Given the description of an element on the screen output the (x, y) to click on. 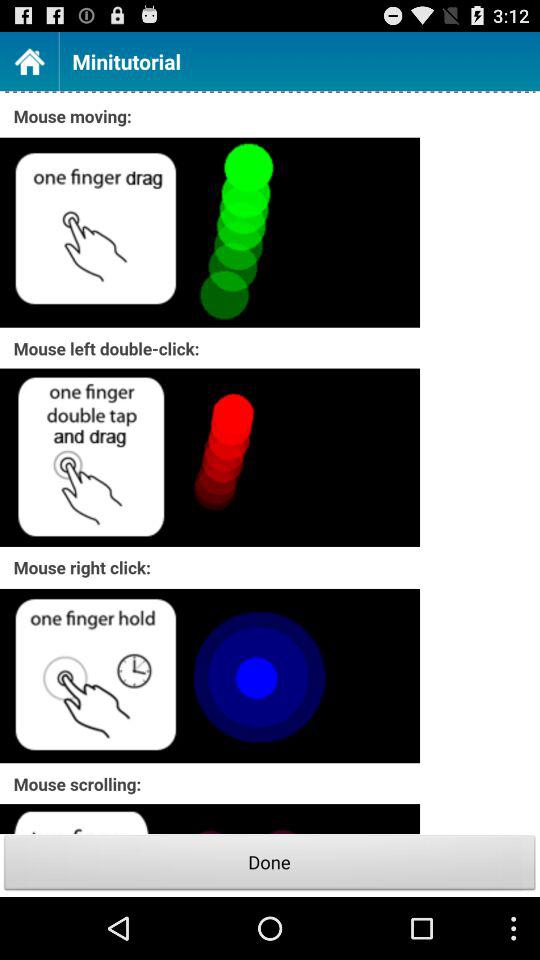
home (29, 60)
